Given the description of an element on the screen output the (x, y) to click on. 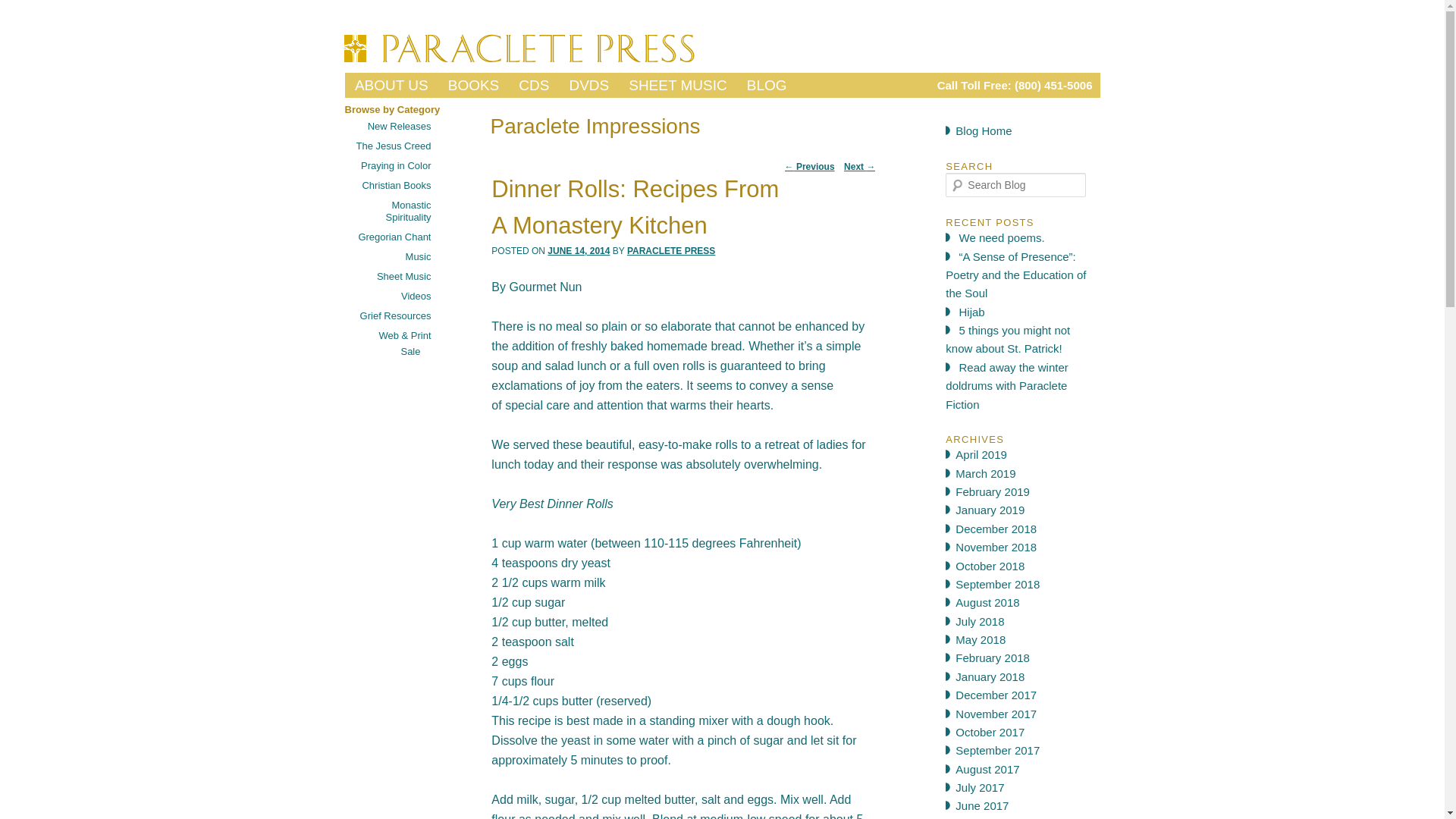
Sale (410, 351)
Blog Home (983, 130)
Grief Resources (394, 315)
Hijab (972, 311)
CDS (533, 85)
Paraclete Press (486, 91)
Sheet Music (403, 276)
Read away the winter doldrums with Paraclete Fiction (1005, 386)
March 2019 (984, 472)
We need poems. (1002, 237)
